Given the description of an element on the screen output the (x, y) to click on. 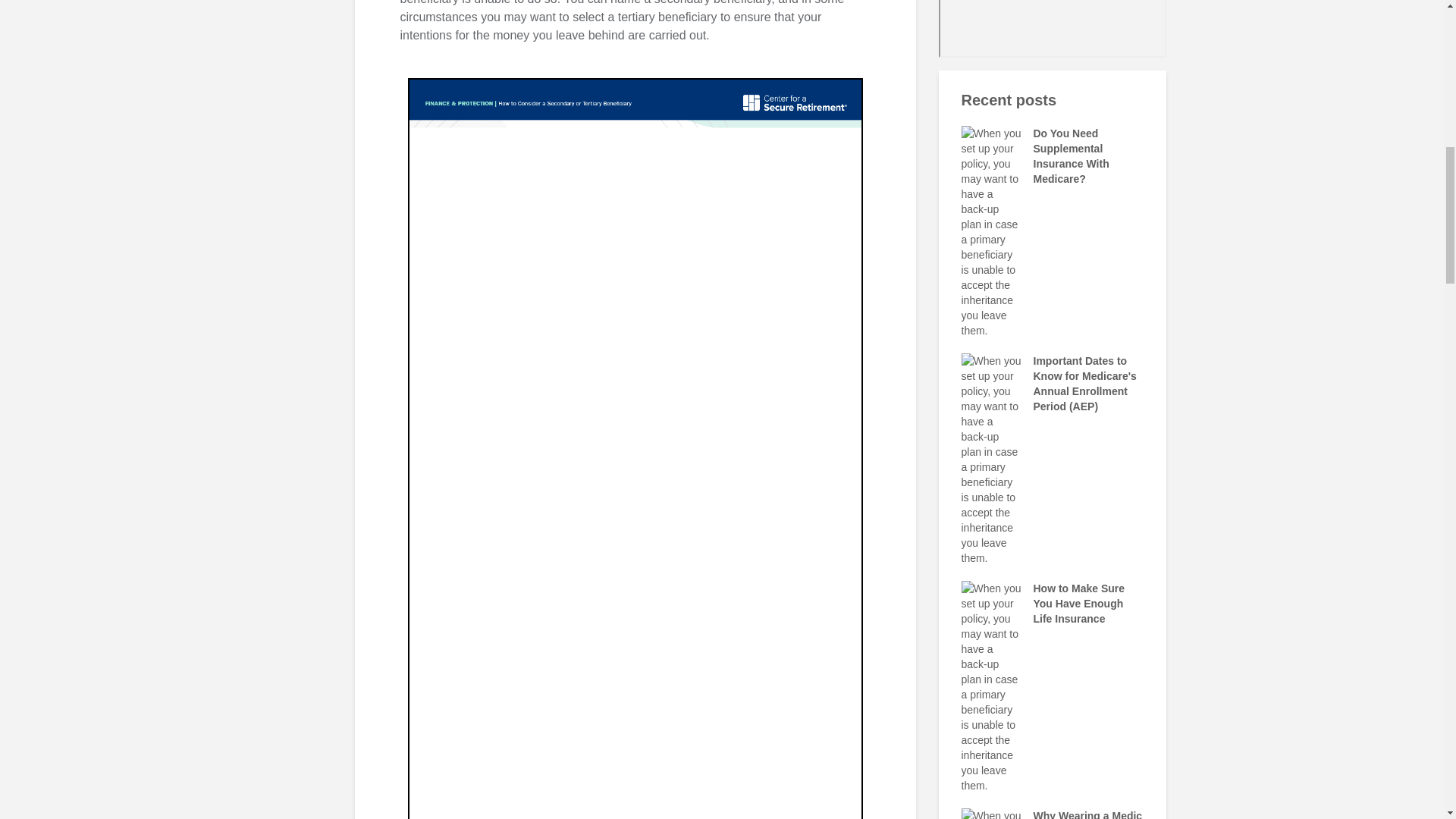
Do You Need Supplemental Insurance With Medicare? (991, 231)
How to Make Sure You Have Enough Life Insurance (991, 686)
